Given the description of an element on the screen output the (x, y) to click on. 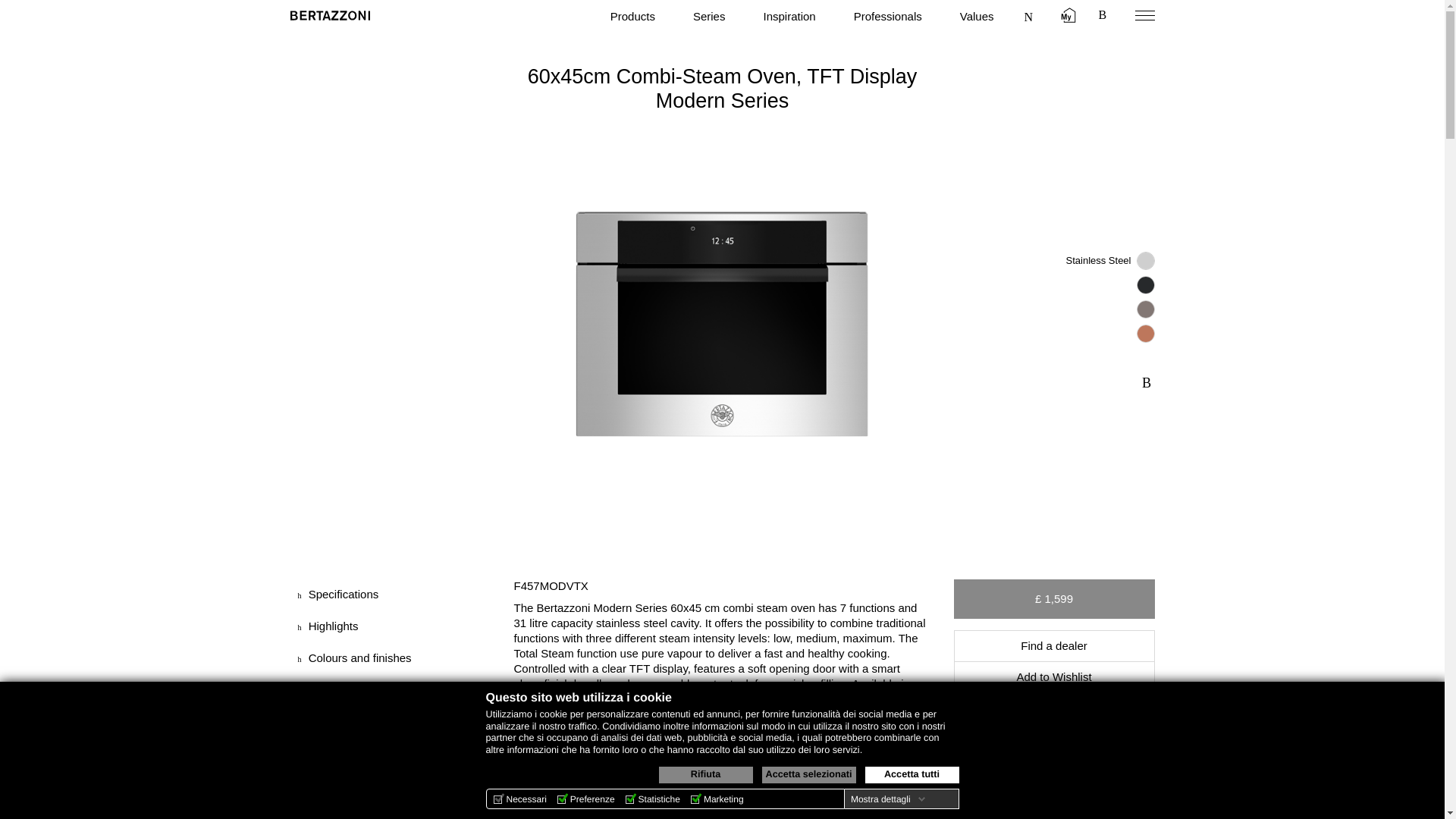
Rifiuta (705, 774)
Accetta selezionati (808, 774)
Ranges, Ovens and Cooktops - Bertazzoni (329, 15)
Mostra dettagli (887, 799)
Accetta tutti (911, 774)
